Given the description of an element on the screen output the (x, y) to click on. 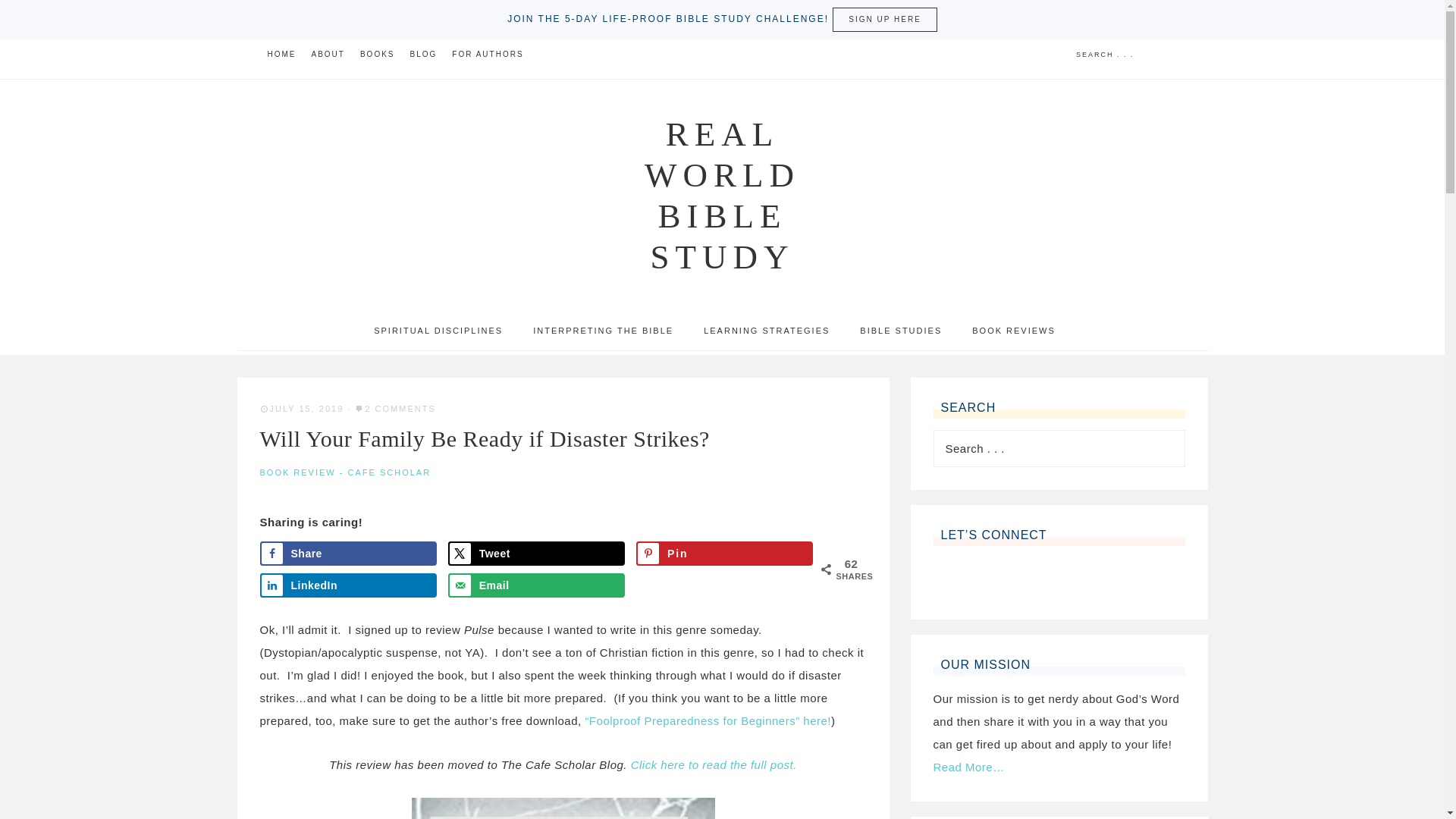
Email (537, 585)
Share on X (537, 553)
2 COMMENTS (400, 408)
SIGN UP HERE (884, 19)
ABOUT (327, 54)
SPIRITUAL DISCIPLINES (446, 331)
BOOK REVIEWS (1013, 331)
Tweet (537, 553)
INTERPRETING THE BIBLE (603, 331)
LinkedIn (347, 585)
BOOK REVIEW - CAFE SCHOLAR (344, 471)
Share on Facebook (347, 553)
HOME (280, 54)
